Given the description of an element on the screen output the (x, y) to click on. 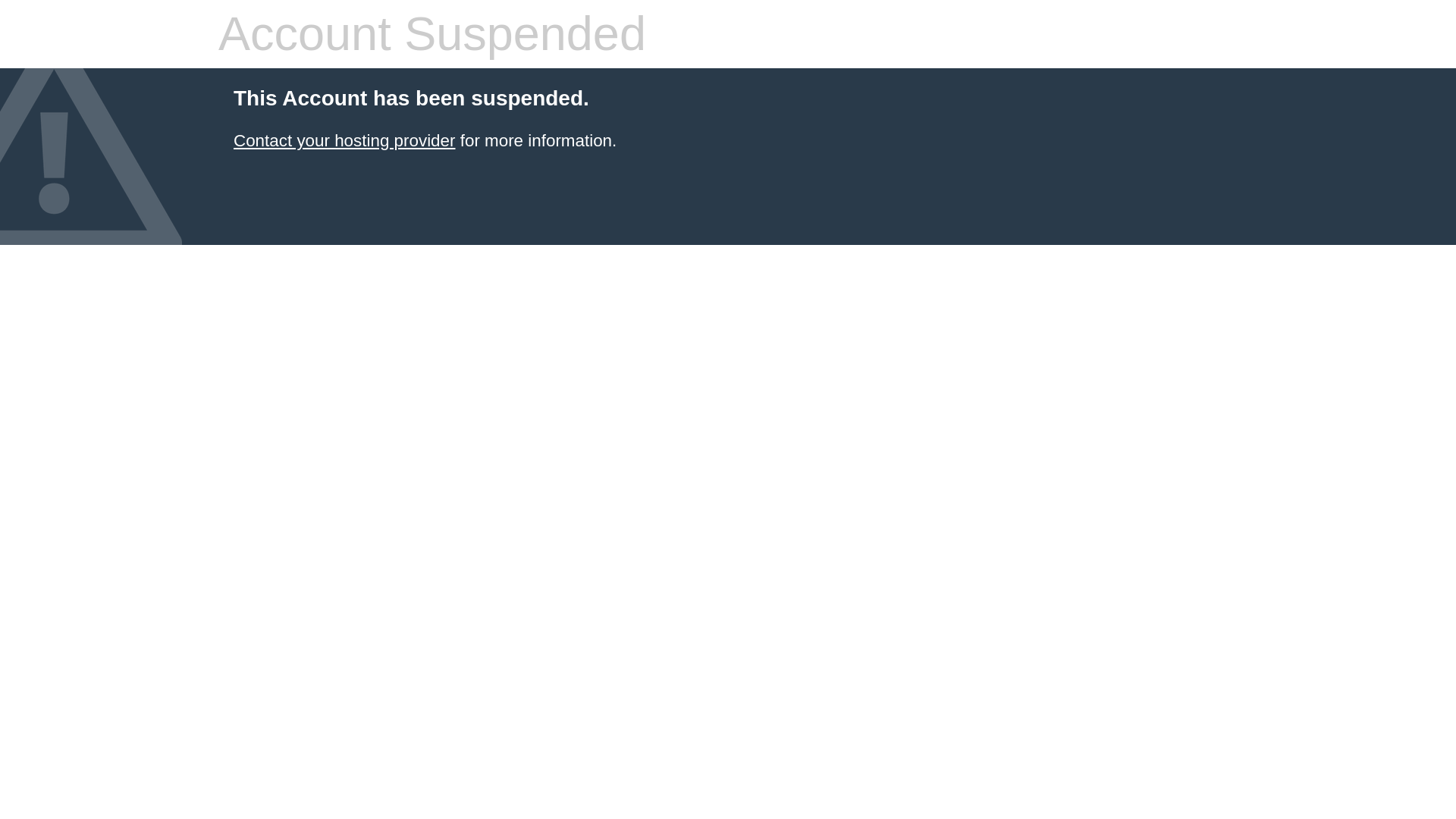
Contact your hosting provider (343, 140)
